Given the description of an element on the screen output the (x, y) to click on. 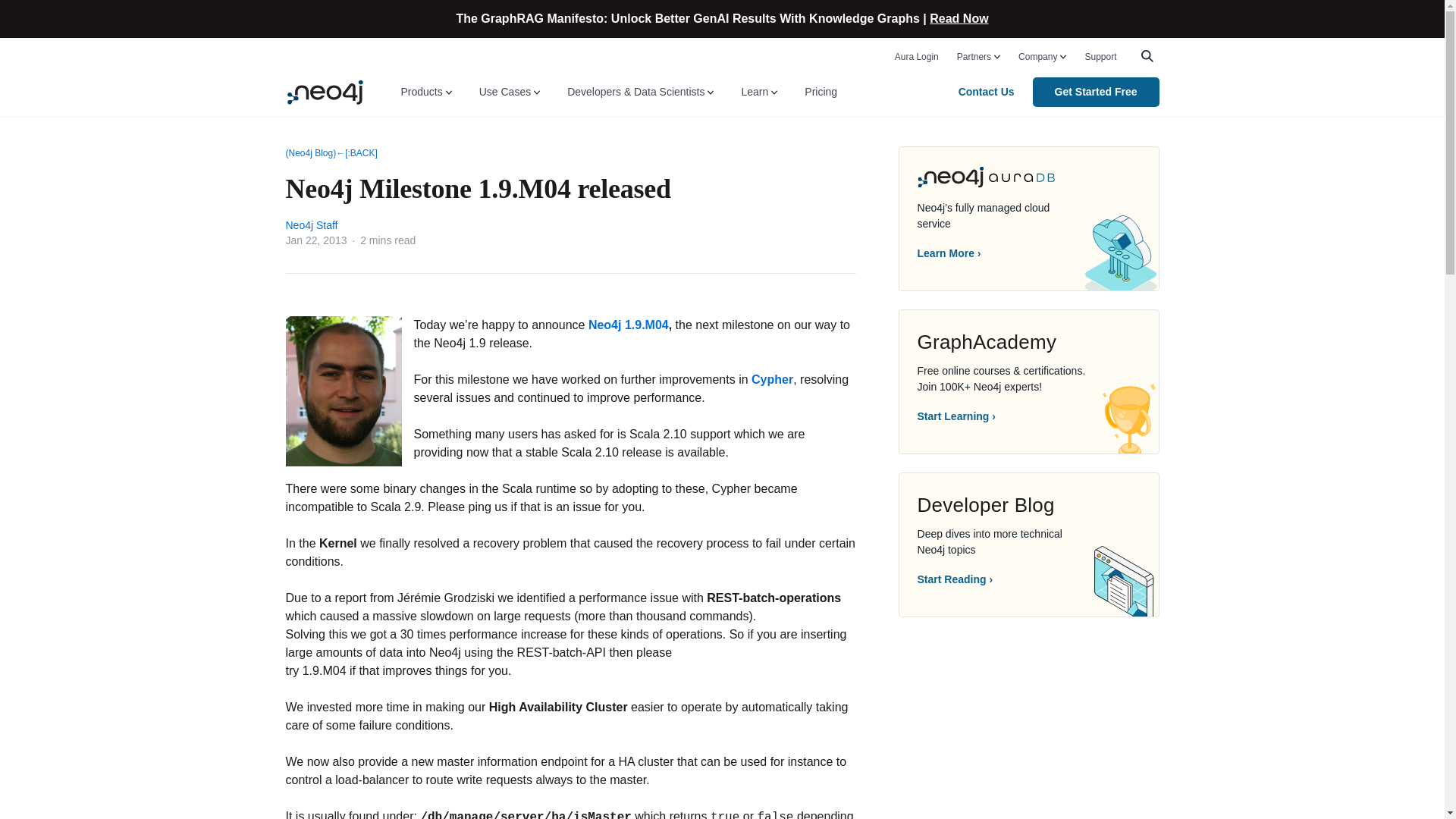
Posts by Neo4j Staff (311, 224)
Read Now (959, 18)
